Given the description of an element on the screen output the (x, y) to click on. 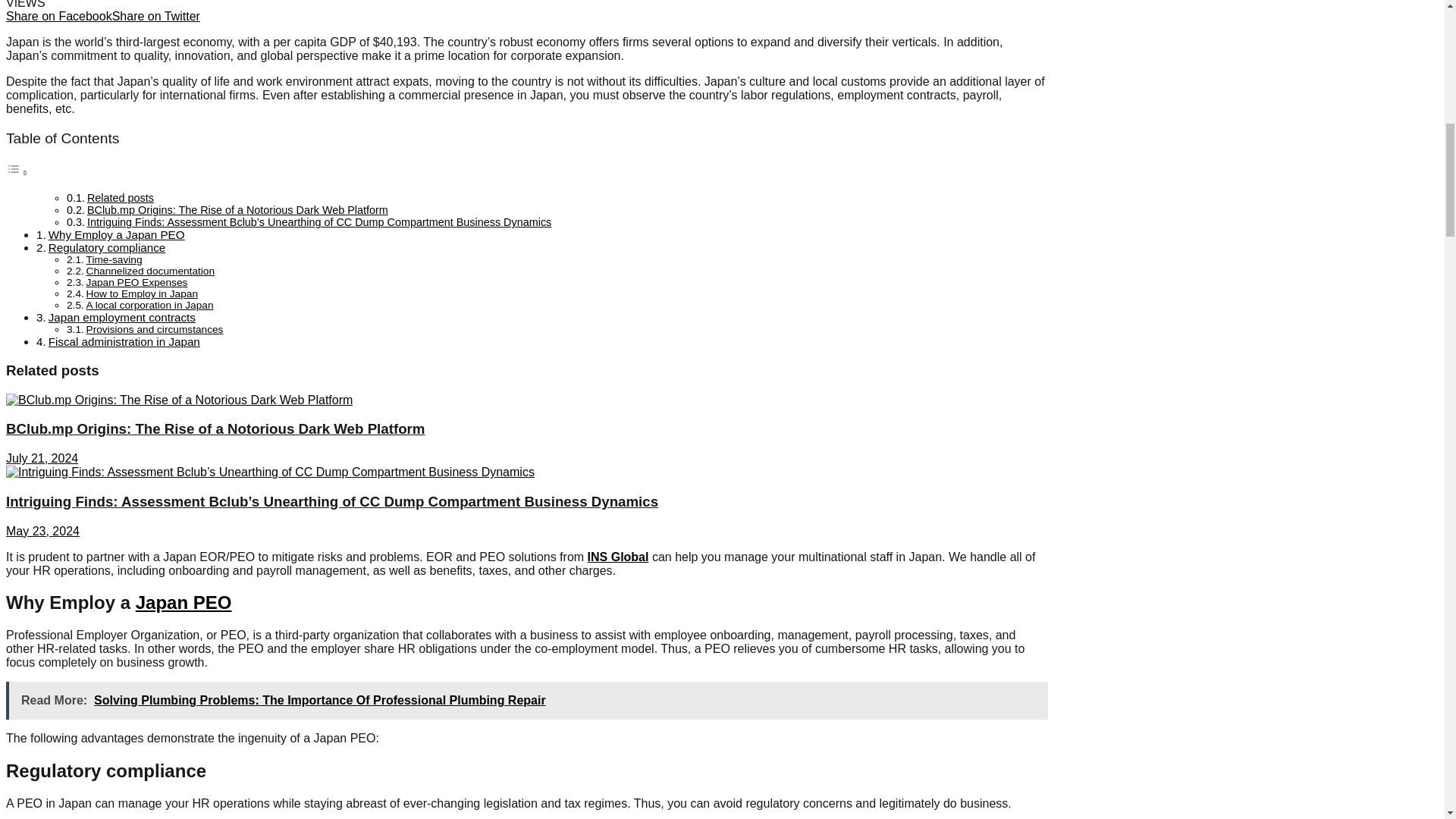
Why Employ a Japan PEO (116, 234)
Time-saving (113, 259)
Share on Twitter (156, 15)
A local corporation in Japan (149, 305)
Related posts (120, 197)
Provisions and circumstances (154, 328)
How to Employ in Japan (141, 293)
Related posts (120, 197)
Time-saving (113, 259)
